Given the description of an element on the screen output the (x, y) to click on. 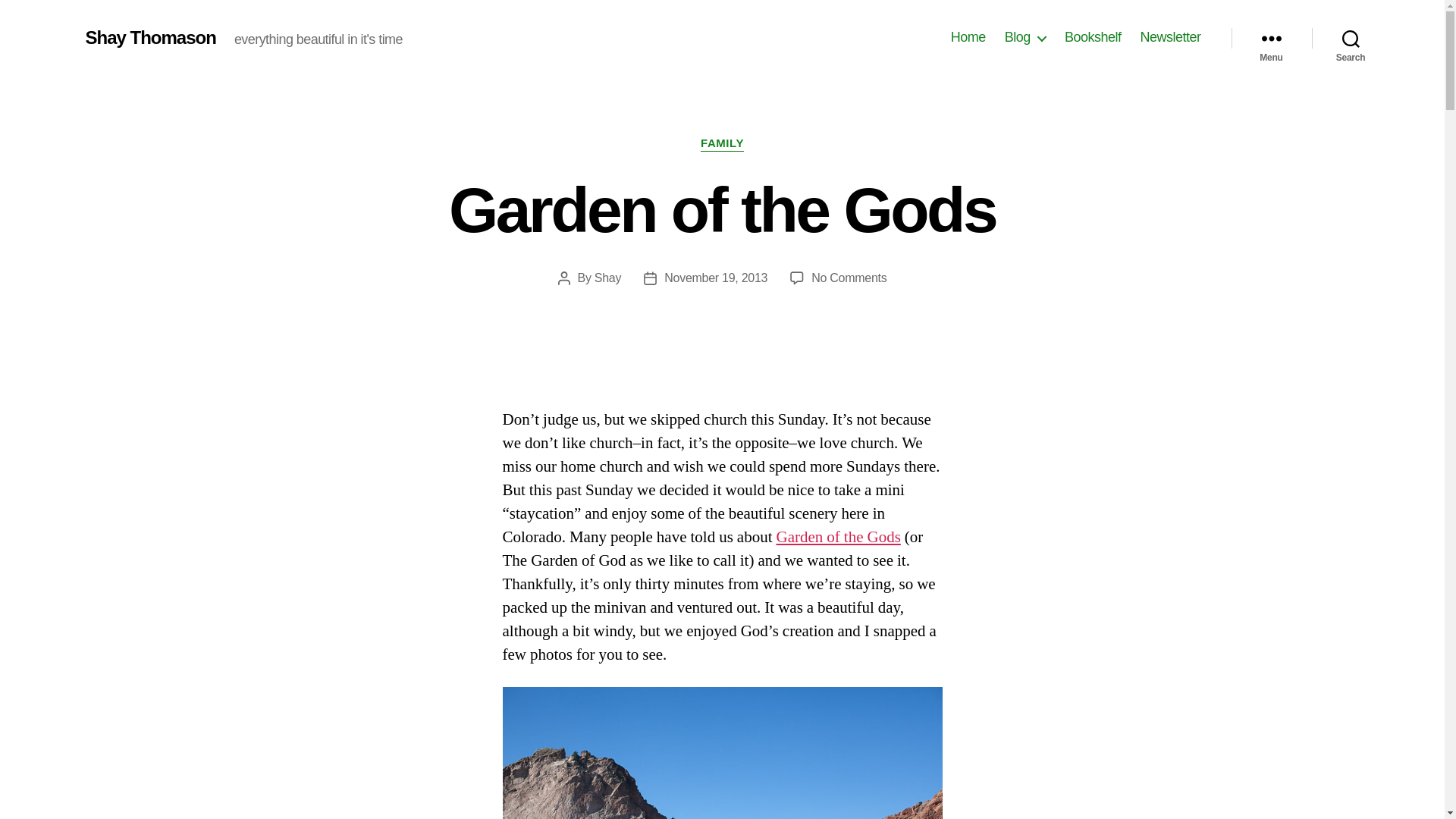
Menu (1271, 37)
Newsletter (848, 277)
Search (1169, 37)
Shay Thomason (1350, 37)
Garden of the Gods by Shay Thomason, on Flickr (149, 37)
FAMILY (722, 753)
Shay (722, 143)
Home (607, 277)
November 19, 2013 (967, 37)
Garden of the Gods (715, 277)
Blog (838, 537)
Bookshelf (1024, 37)
